Given the description of an element on the screen output the (x, y) to click on. 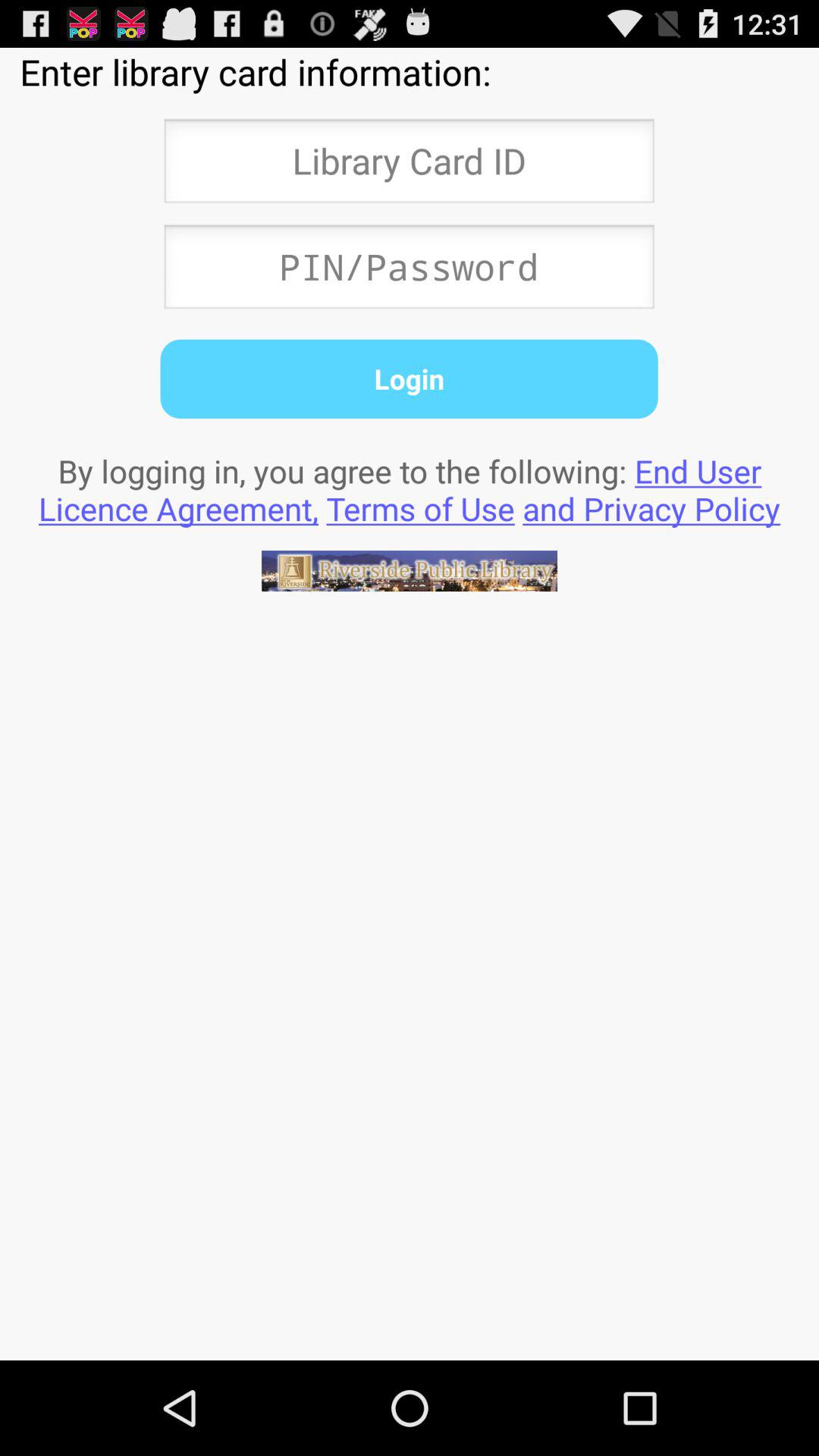
enter library card id (409, 165)
